Given the description of an element on the screen output the (x, y) to click on. 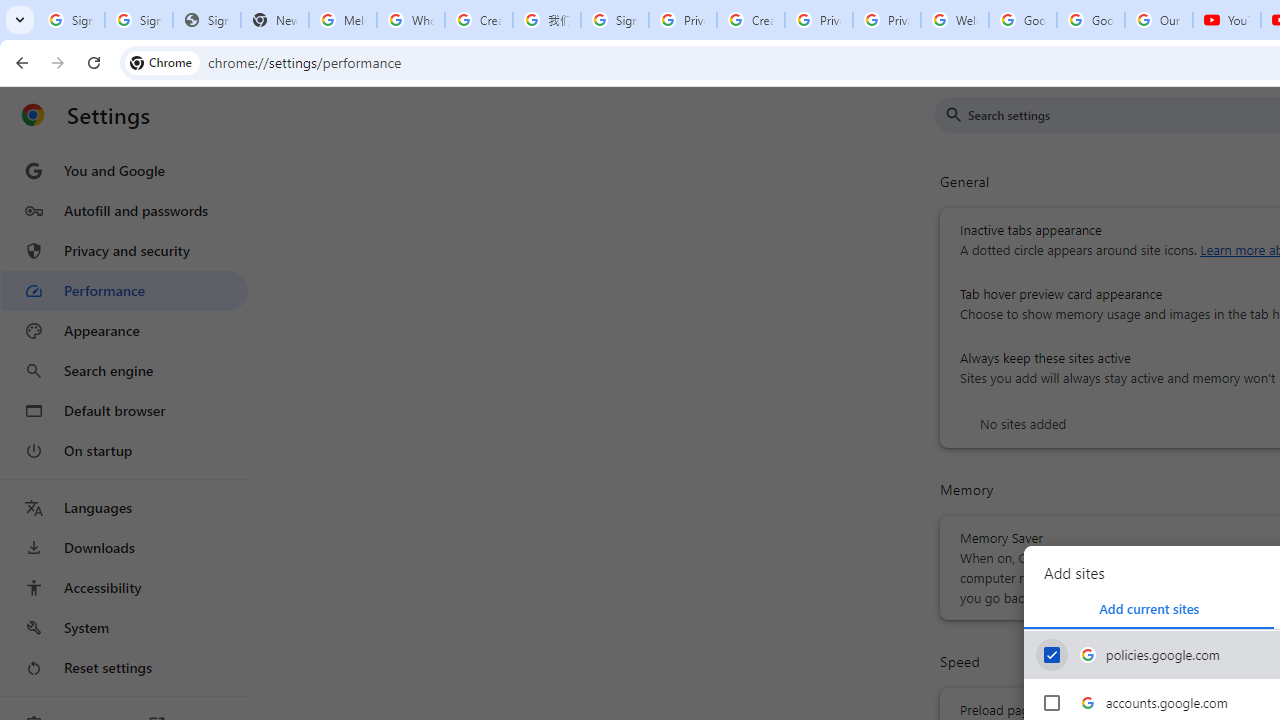
AutomationID: checkmark (1051, 654)
Google Account (1091, 20)
Create your Google Account (479, 20)
New Tab (274, 20)
Create your Google Account (750, 20)
policies.google.com (1051, 655)
Add current sites (1149, 608)
